Given the description of an element on the screen output the (x, y) to click on. 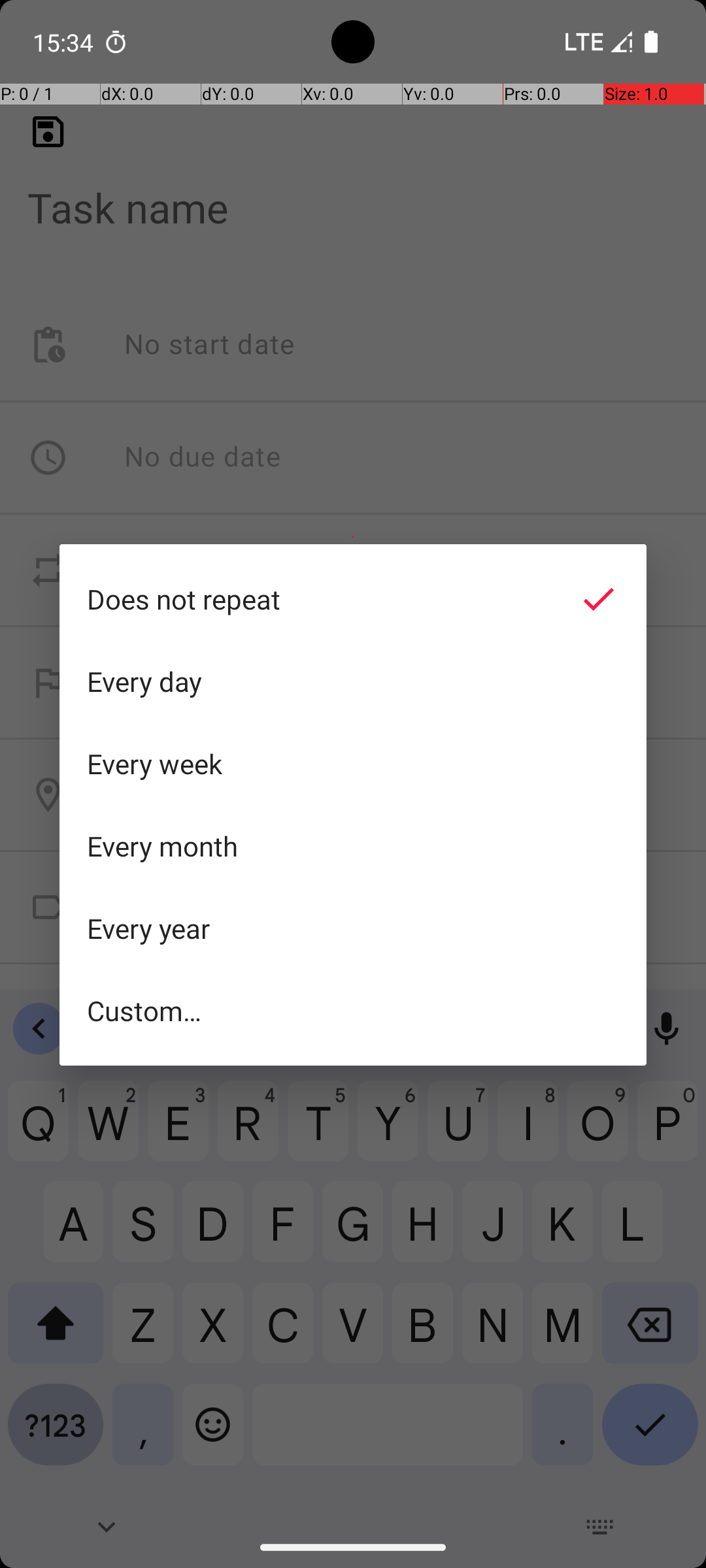
Every day Element type: android.widget.CheckedTextView (352, 681)
Every week Element type: android.widget.CheckedTextView (352, 763)
Every month Element type: android.widget.CheckedTextView (352, 845)
Every year Element type: android.widget.CheckedTextView (352, 928)
Custom… Element type: android.widget.CheckedTextView (352, 1010)
